Given the description of an element on the screen output the (x, y) to click on. 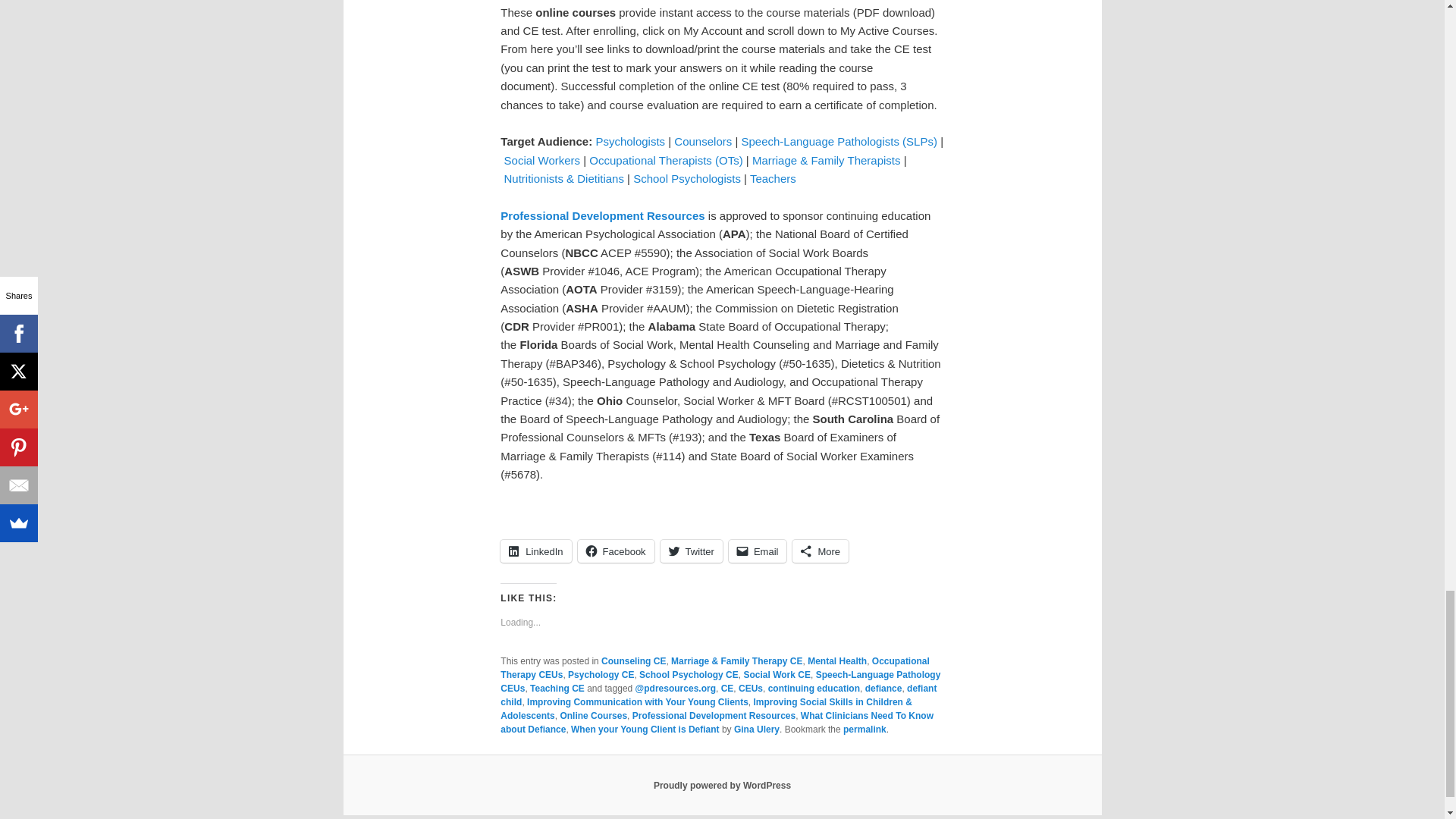
Professional Development Resources (602, 215)
Counselors (703, 141)
Counseling CE (633, 661)
School Psychologists (687, 178)
Click to email a link to a friend (758, 550)
More (820, 550)
Teachers (772, 178)
Click to share on LinkedIn (535, 550)
Permalink to What Clinicians Need To Know about Defiance (864, 728)
LinkedIn (535, 550)
Social Workers (541, 160)
Click to share on Facebook (615, 550)
Psychologists (630, 141)
Email (758, 550)
Facebook (615, 550)
